Given the description of an element on the screen output the (x, y) to click on. 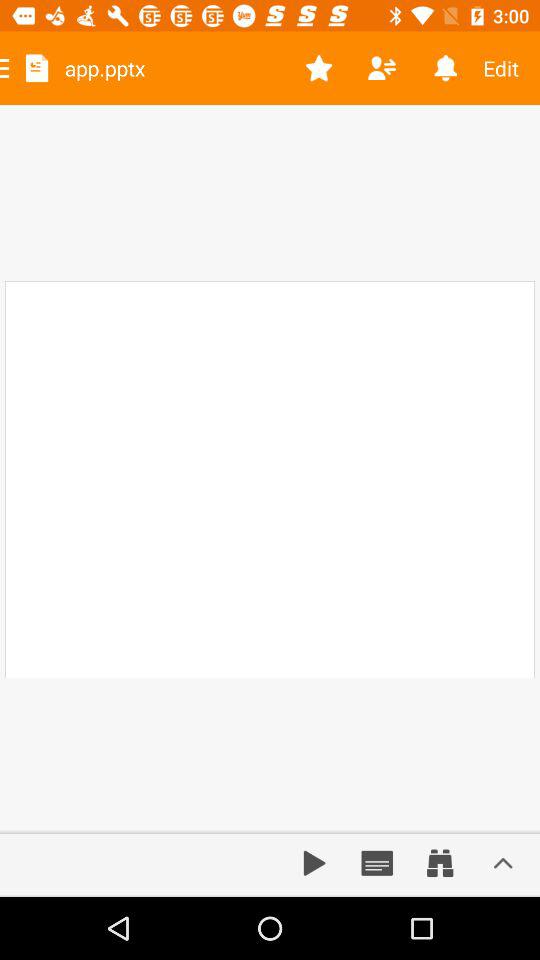
play (314, 863)
